Given the description of an element on the screen output the (x, y) to click on. 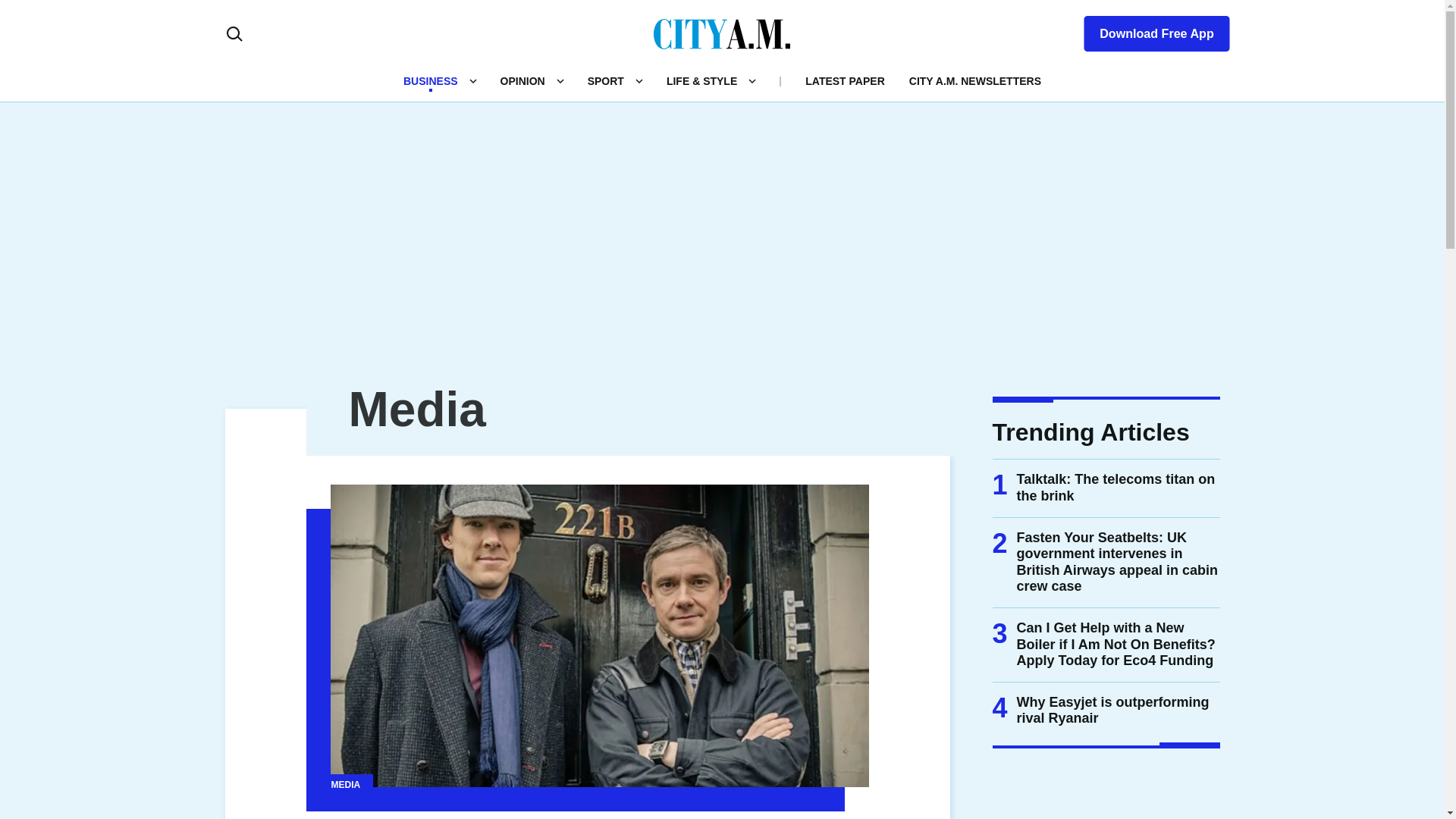
BUSINESS (430, 80)
CityAM (721, 33)
SPORT (606, 80)
OPINION (522, 80)
Download Free App (1146, 30)
